Given the description of an element on the screen output the (x, y) to click on. 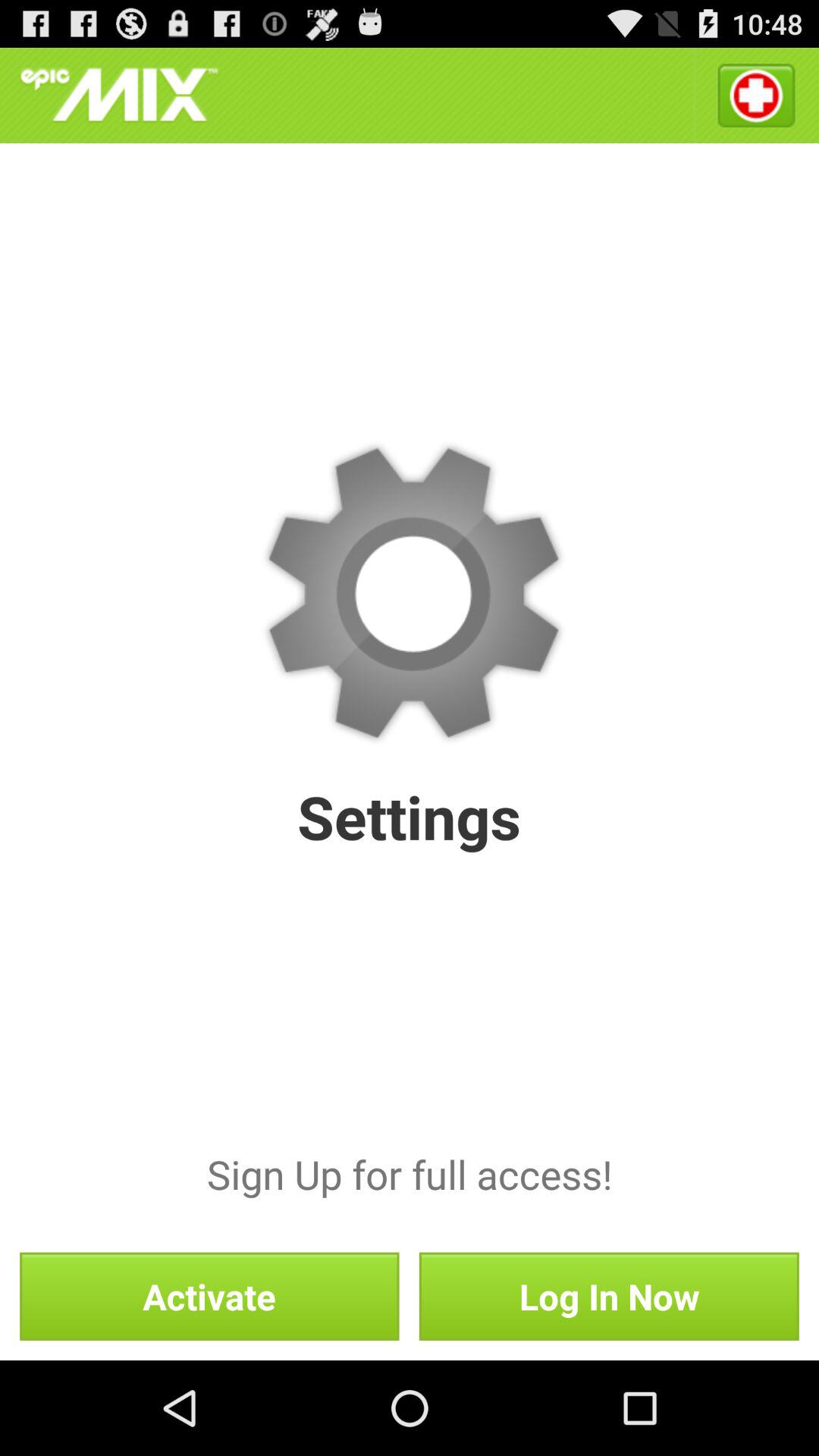
turn on the icon to the right of activate button (609, 1296)
